Given the description of an element on the screen output the (x, y) to click on. 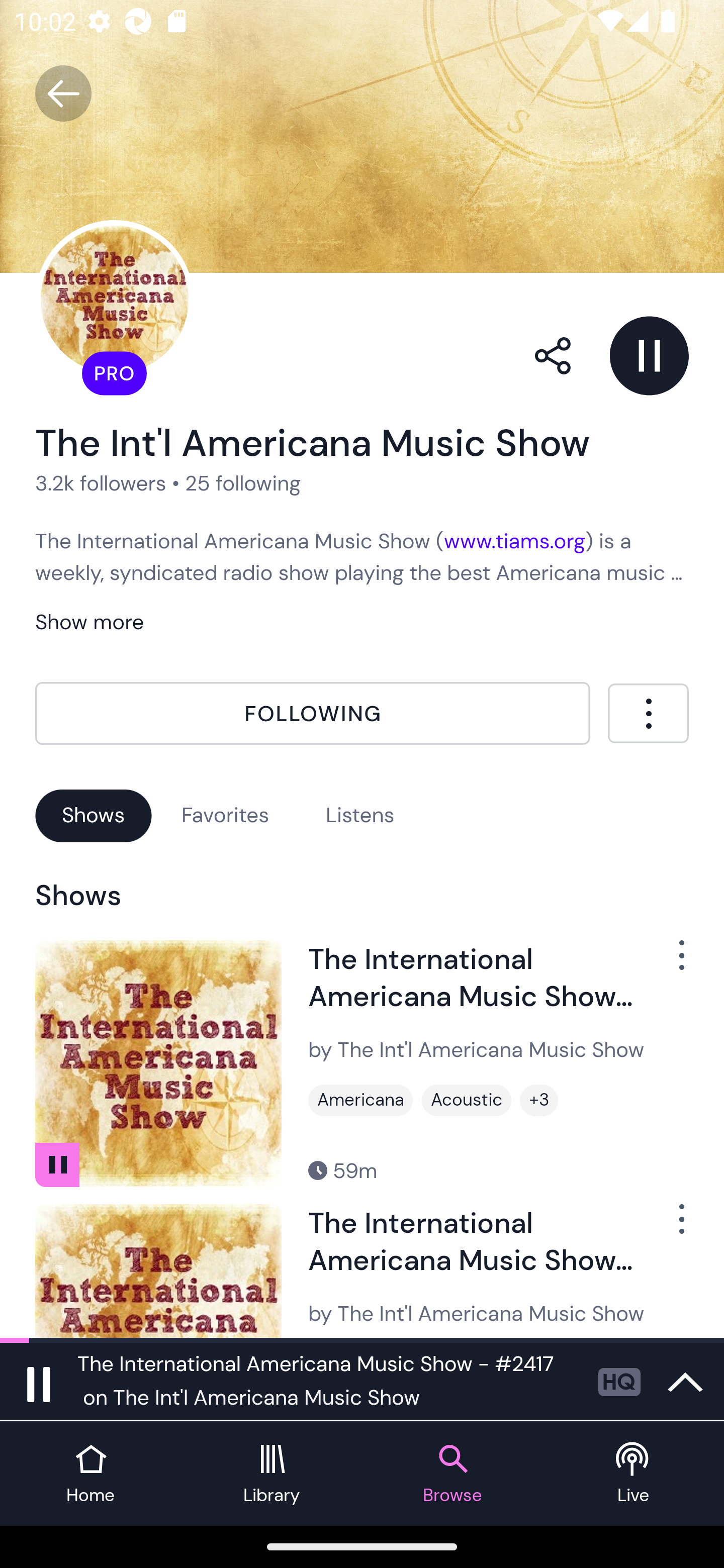
3.2k followers (100, 482)
25 following (243, 482)
Following FOLLOWING (312, 713)
More Menu (648, 713)
Shows (93, 815)
Favorites (225, 815)
Listens (359, 815)
Show Options Menu Button (670, 963)
Americana (360, 1100)
Acoustic (466, 1100)
Show Options Menu Button (670, 1226)
Home tab Home (90, 1473)
Library tab Library (271, 1473)
Browse tab Browse (452, 1473)
Live tab Live (633, 1473)
